Given the description of an element on the screen output the (x, y) to click on. 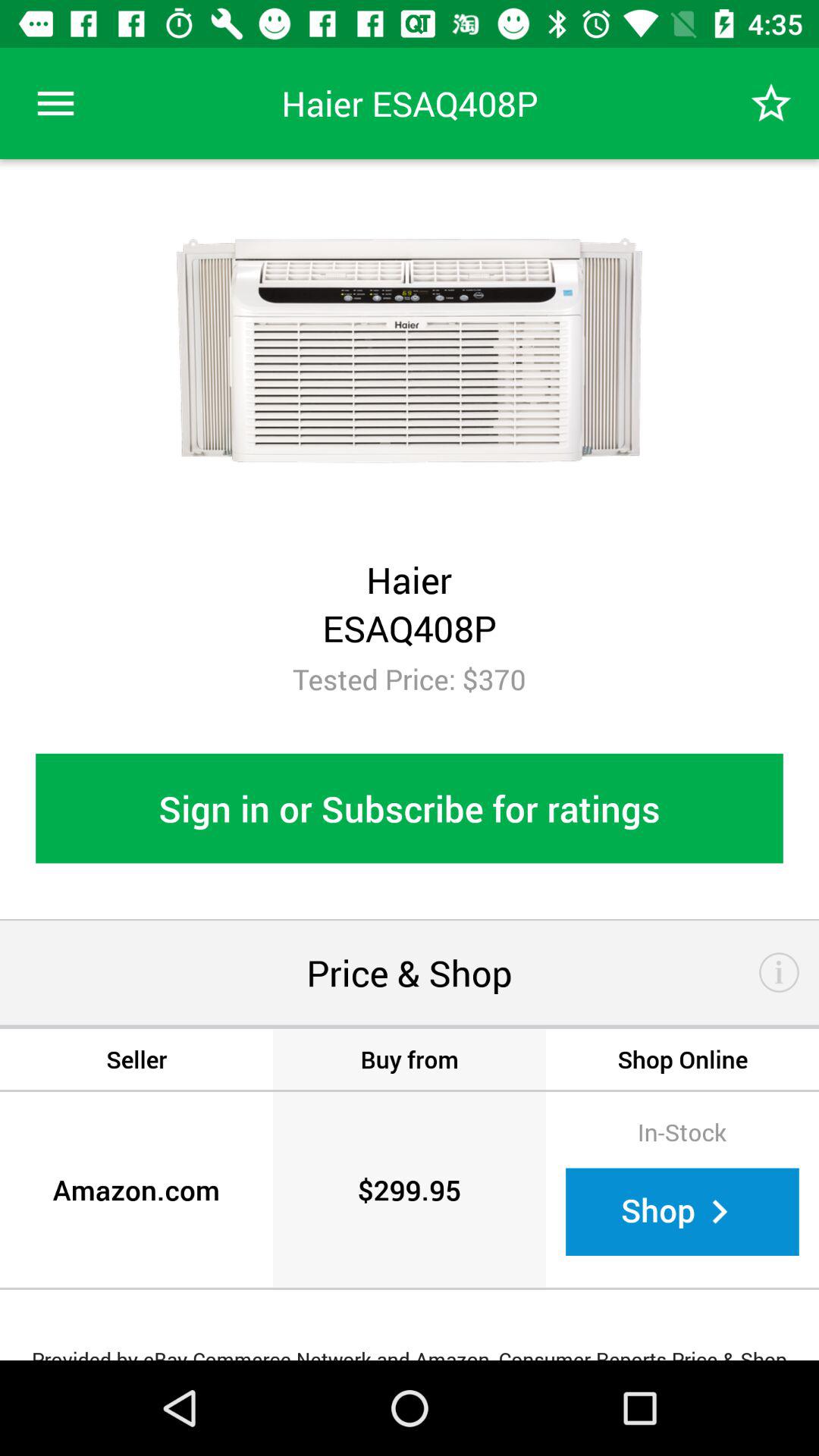
open the icon to the right of the haier esaq408p (771, 103)
